Given the description of an element on the screen output the (x, y) to click on. 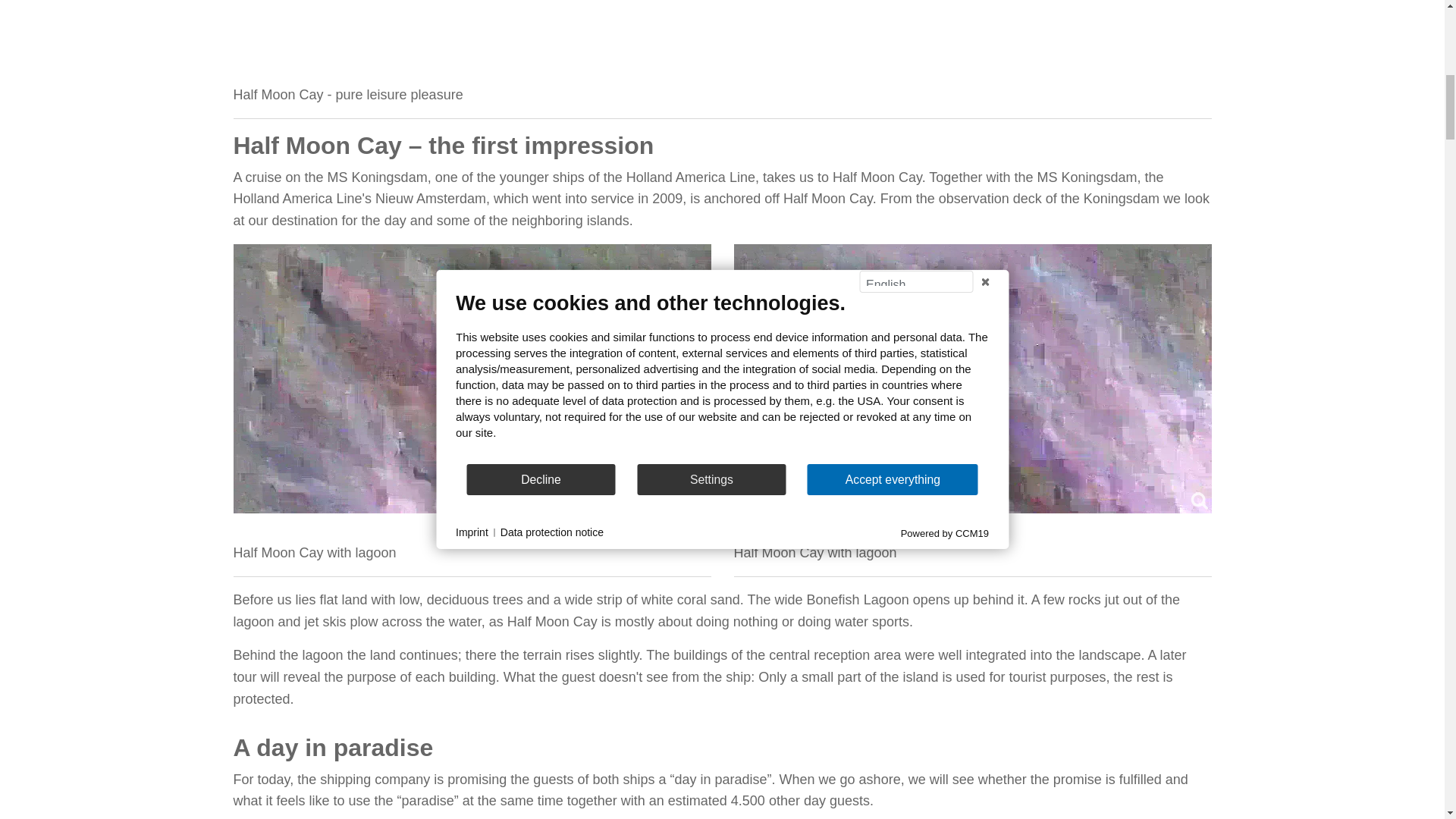
Half Moon Cay with lagoon (972, 378)
Half Moon Cay with lagoon (471, 378)
Half Moon Cay - pure leisure pleasure (687, 36)
